Given the description of an element on the screen output the (x, y) to click on. 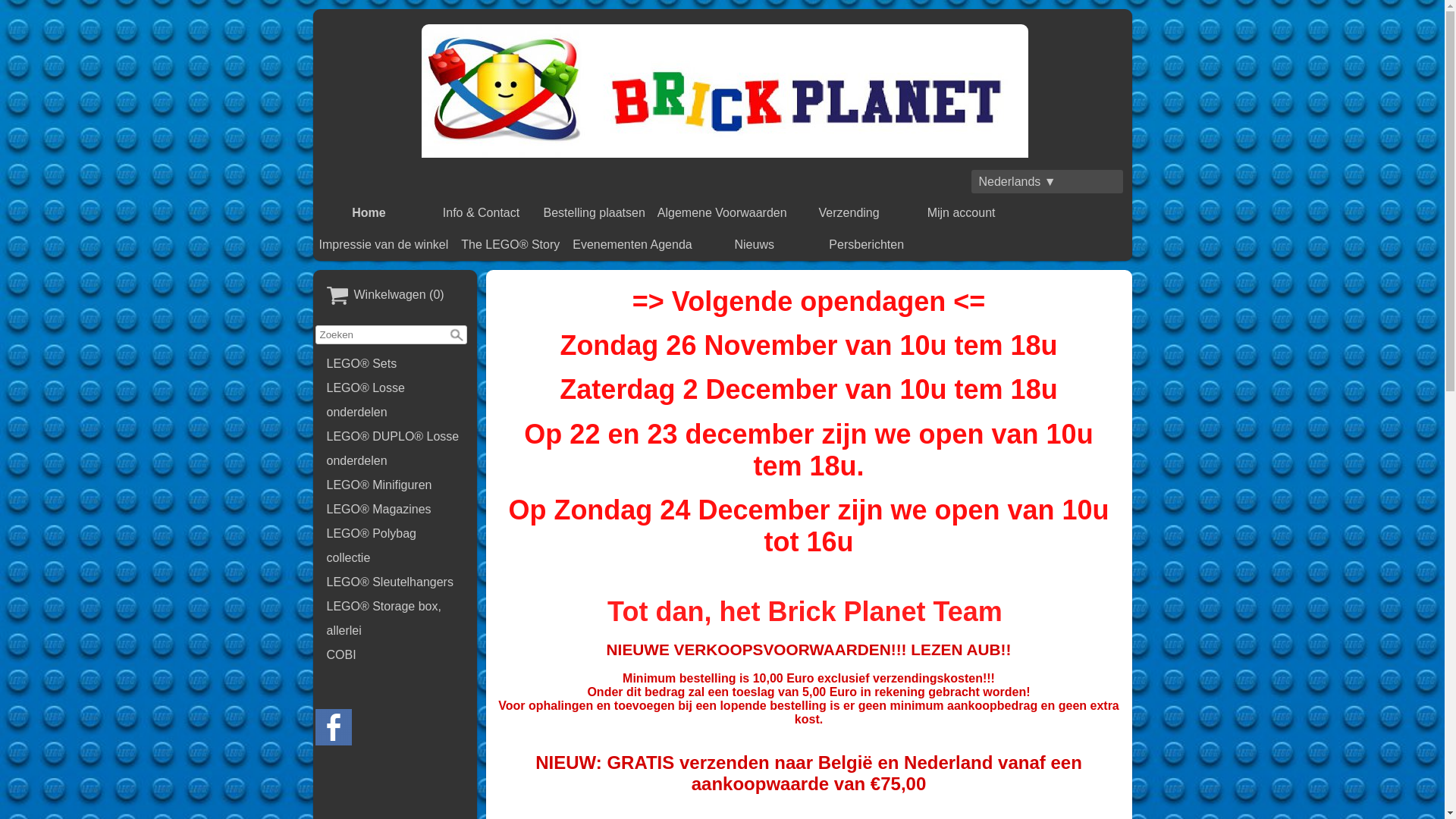
Nieuws Element type: text (754, 244)
Bestelling plaatsen Element type: text (594, 212)
WinkelwagenWinkelwagen (0) Element type: text (394, 295)
Mijn account Element type: text (961, 212)
Impressie van de winkel Element type: text (383, 244)
Home Element type: text (368, 212)
Algemene Voorwaarden Element type: text (722, 212)
Info & Contact Element type: text (481, 212)
Evenementen Agenda Element type: text (631, 244)
Verzending Element type: text (849, 212)
Persberichten Element type: text (866, 244)
COBI Element type: text (394, 655)
